Given the description of an element on the screen output the (x, y) to click on. 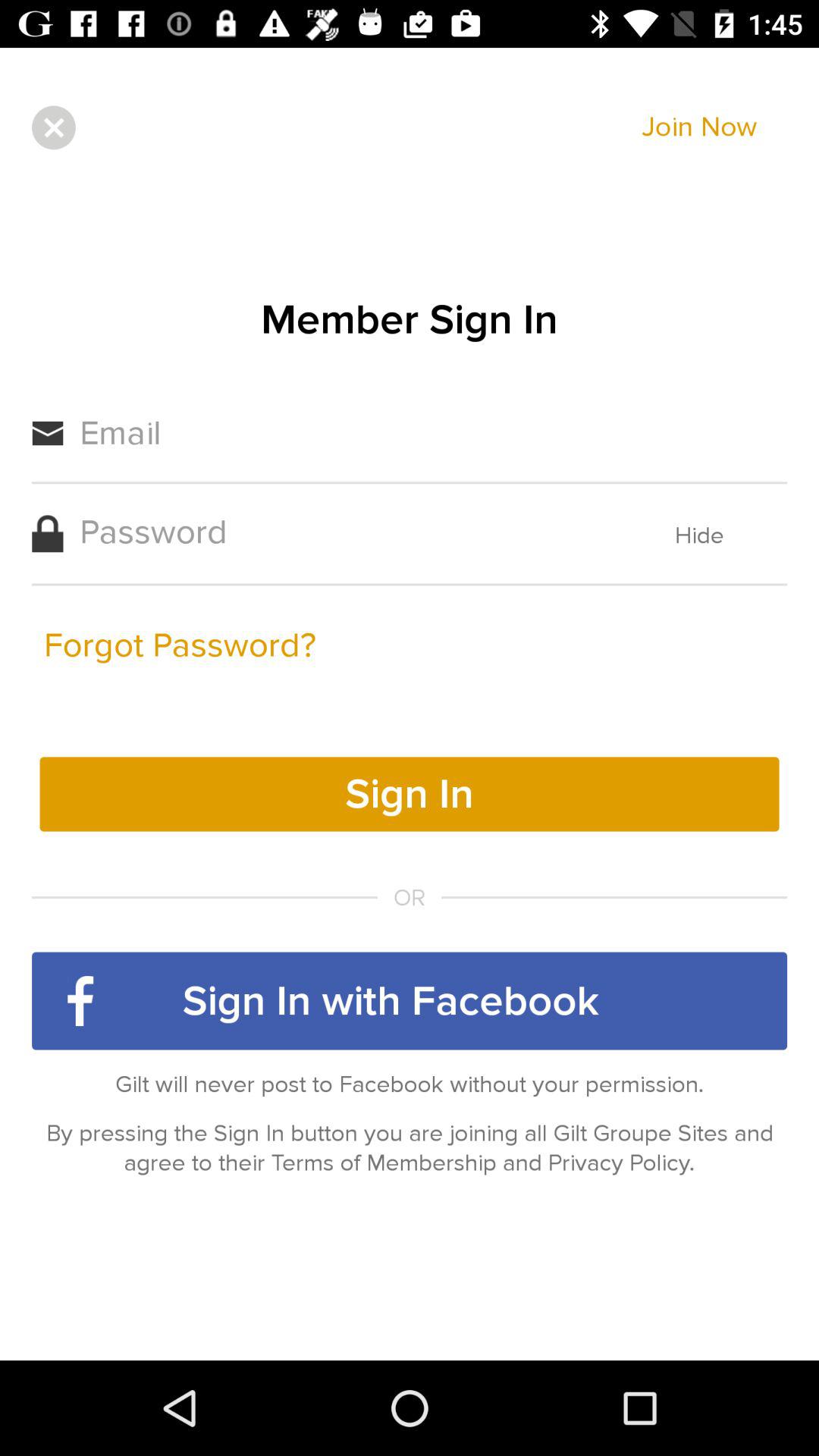
click on the text hide (699, 535)
click on the yellow color button (409, 794)
click on the button with the text sign in with facebook (409, 1000)
click on the first text field having the text email (433, 433)
select the password (345, 531)
